Given the description of an element on the screen output the (x, y) to click on. 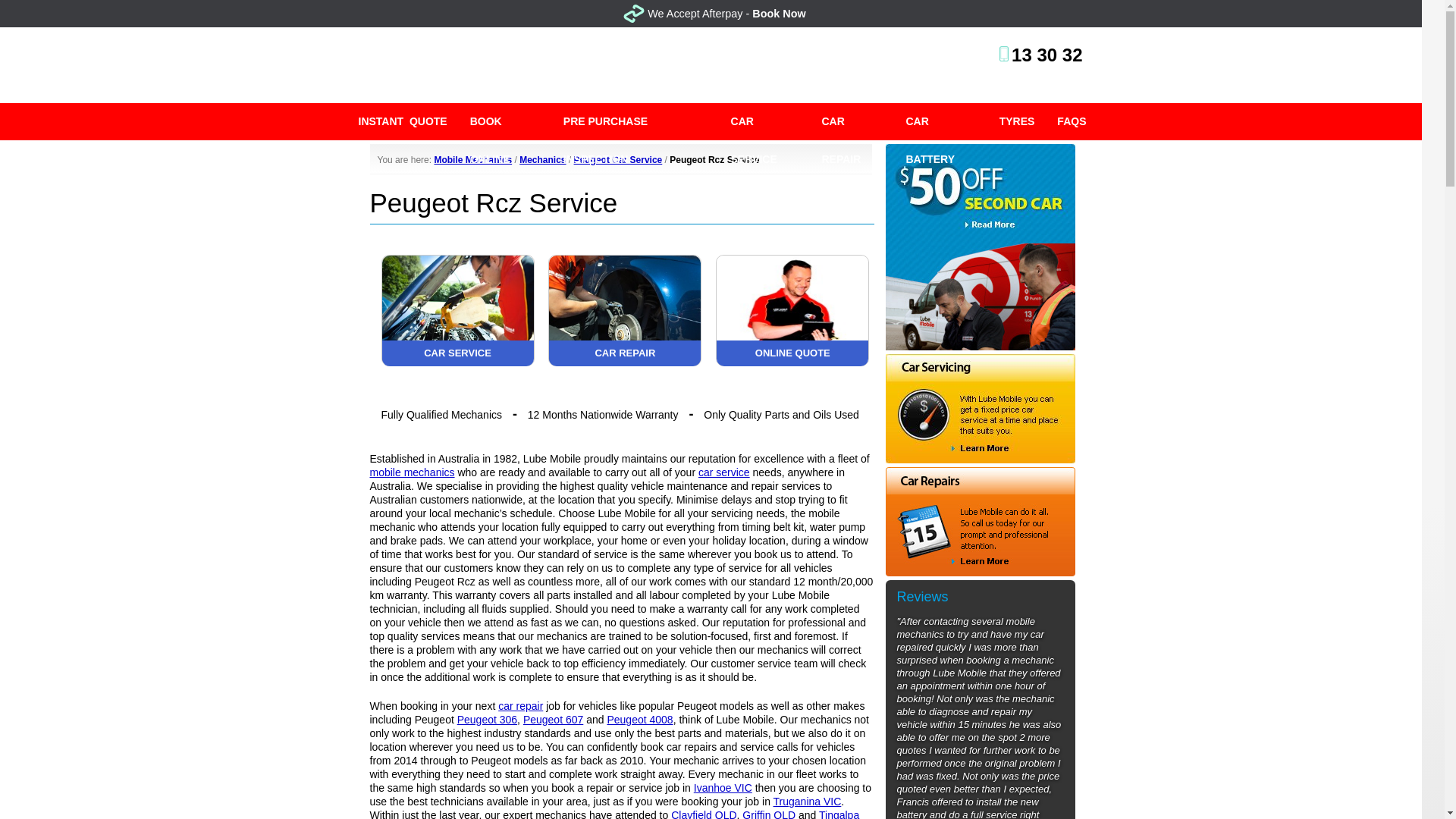
FAQS (1071, 121)
CAR REPAIR (851, 121)
CAR SERVICE (764, 121)
PRE PURCHASE INSPECTION (635, 121)
TYRES (1017, 121)
Peugeot 4008 (639, 719)
Truganina VIC (807, 801)
Ivanhoe VIC (723, 787)
Peugeot 306 (486, 719)
Mobile Mechanics (472, 159)
INSTANT  QUOTE (402, 121)
Clayfield QLD (703, 814)
car service (723, 472)
Peugeot 607 (552, 719)
Tingalpa QLD (614, 814)
